Given the description of an element on the screen output the (x, y) to click on. 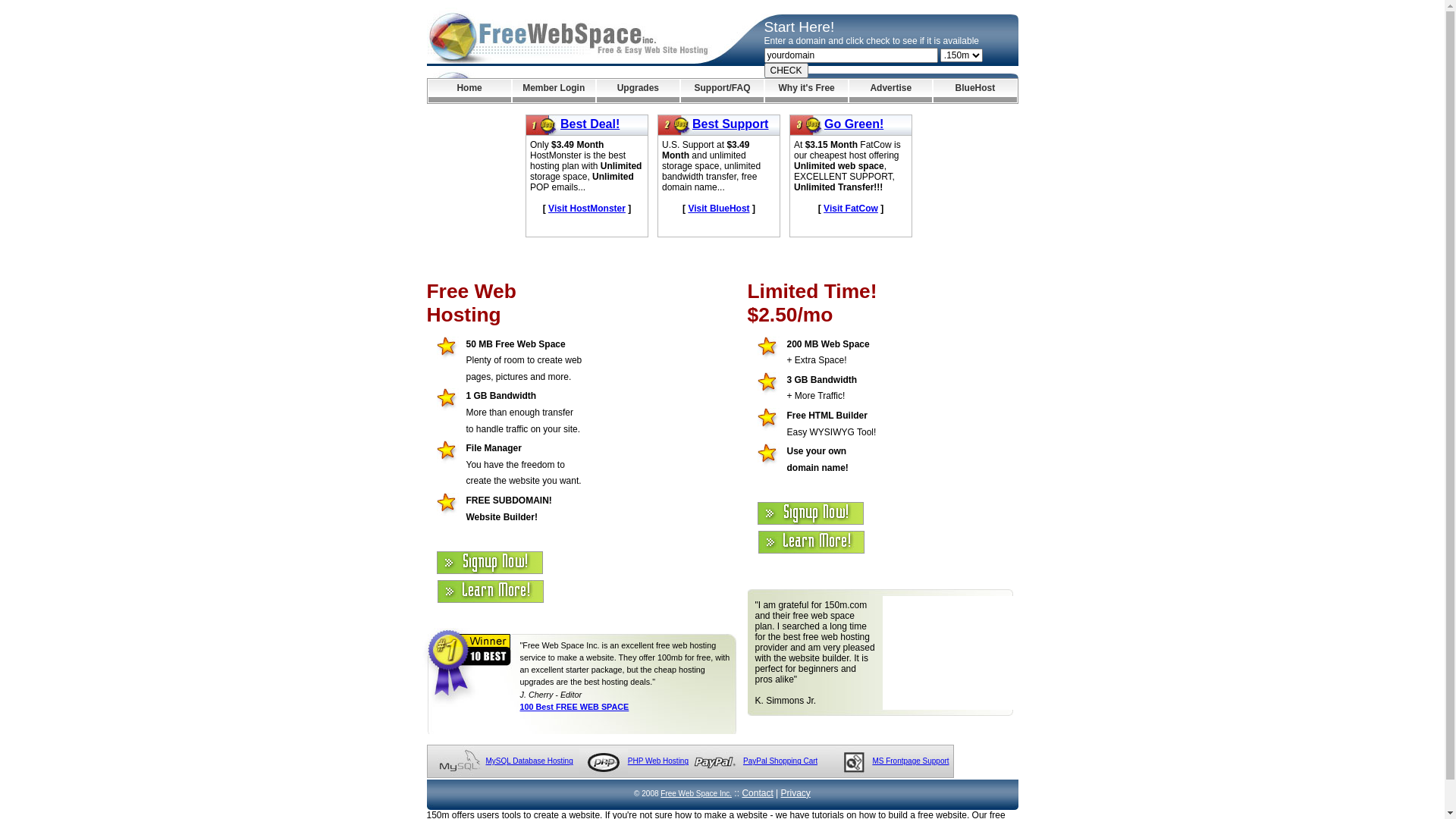
Member Login Element type: text (553, 90)
MySQL Database Hosting Element type: text (528, 760)
Free Web Space Inc. Element type: text (695, 793)
CHECK Element type: text (786, 70)
Upgrades Element type: text (637, 90)
Advertise Element type: text (890, 90)
Why it's Free Element type: text (806, 90)
Privacy Element type: text (795, 792)
PayPal Shopping Cart Element type: text (780, 760)
Contact Element type: text (756, 792)
PHP Web Hosting Element type: text (657, 760)
100 Best FREE WEB SPACE Element type: text (574, 706)
MS Frontpage Support Element type: text (910, 760)
Support/FAQ Element type: text (721, 90)
Home Element type: text (468, 90)
BlueHost Element type: text (974, 90)
